Given the description of an element on the screen output the (x, y) to click on. 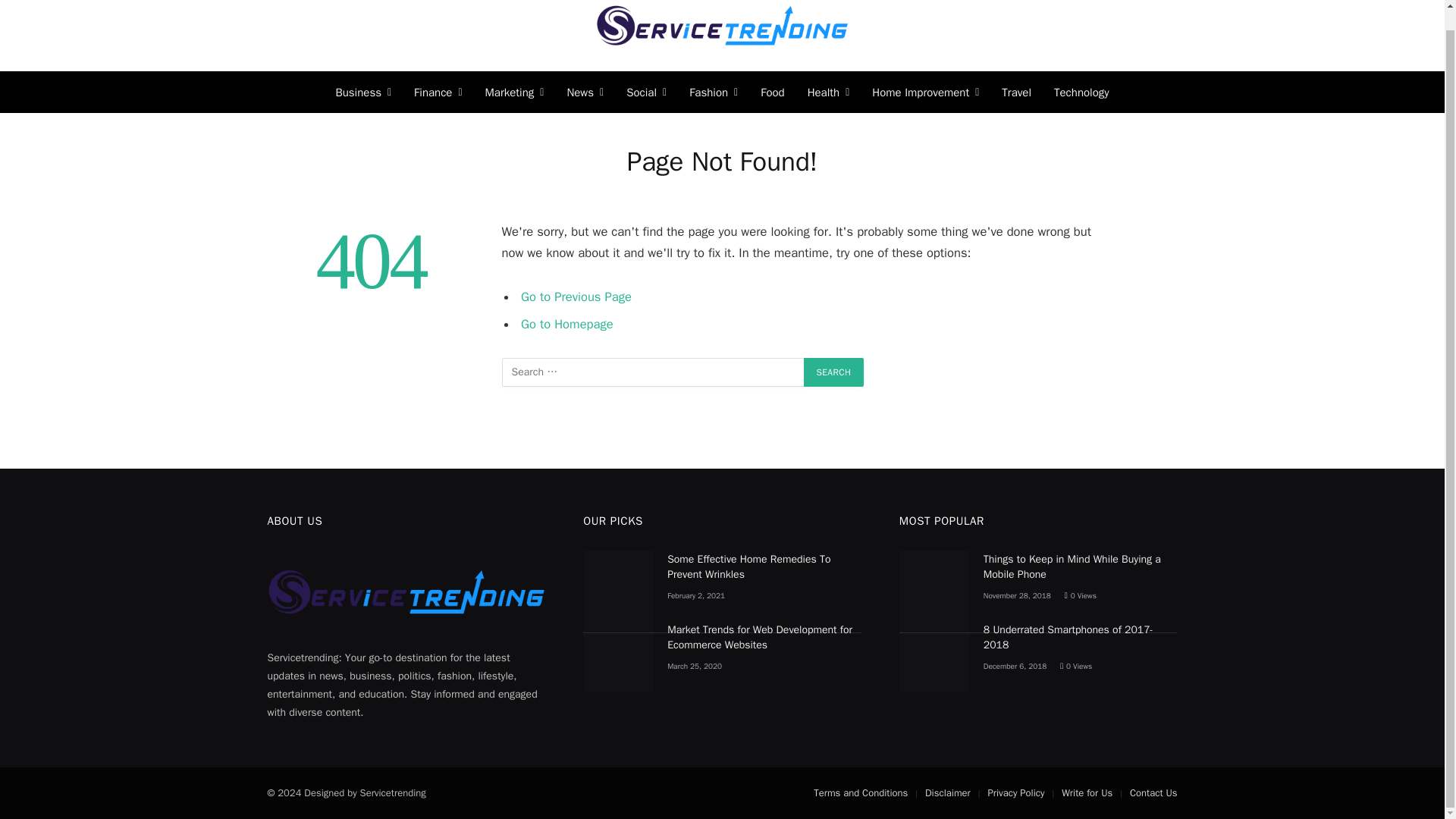
Marketing (515, 92)
0 Article Views (1075, 665)
Social (646, 92)
Go to Previous Page (576, 296)
Finance (438, 92)
Things to Keep in Mind While Buying a Mobile Phone (934, 585)
Market Trends for Web Development for Ecommerce Websites (618, 655)
Search (833, 371)
Some Effective Home Remedies To Prevent Wrinkles (618, 585)
Go to Homepage (566, 323)
8 Underrated Smartphones of 2017-2018 (934, 655)
Home Improvement (925, 92)
Health (828, 92)
Technology (1081, 92)
0 Article Views (1080, 595)
